Given the description of an element on the screen output the (x, y) to click on. 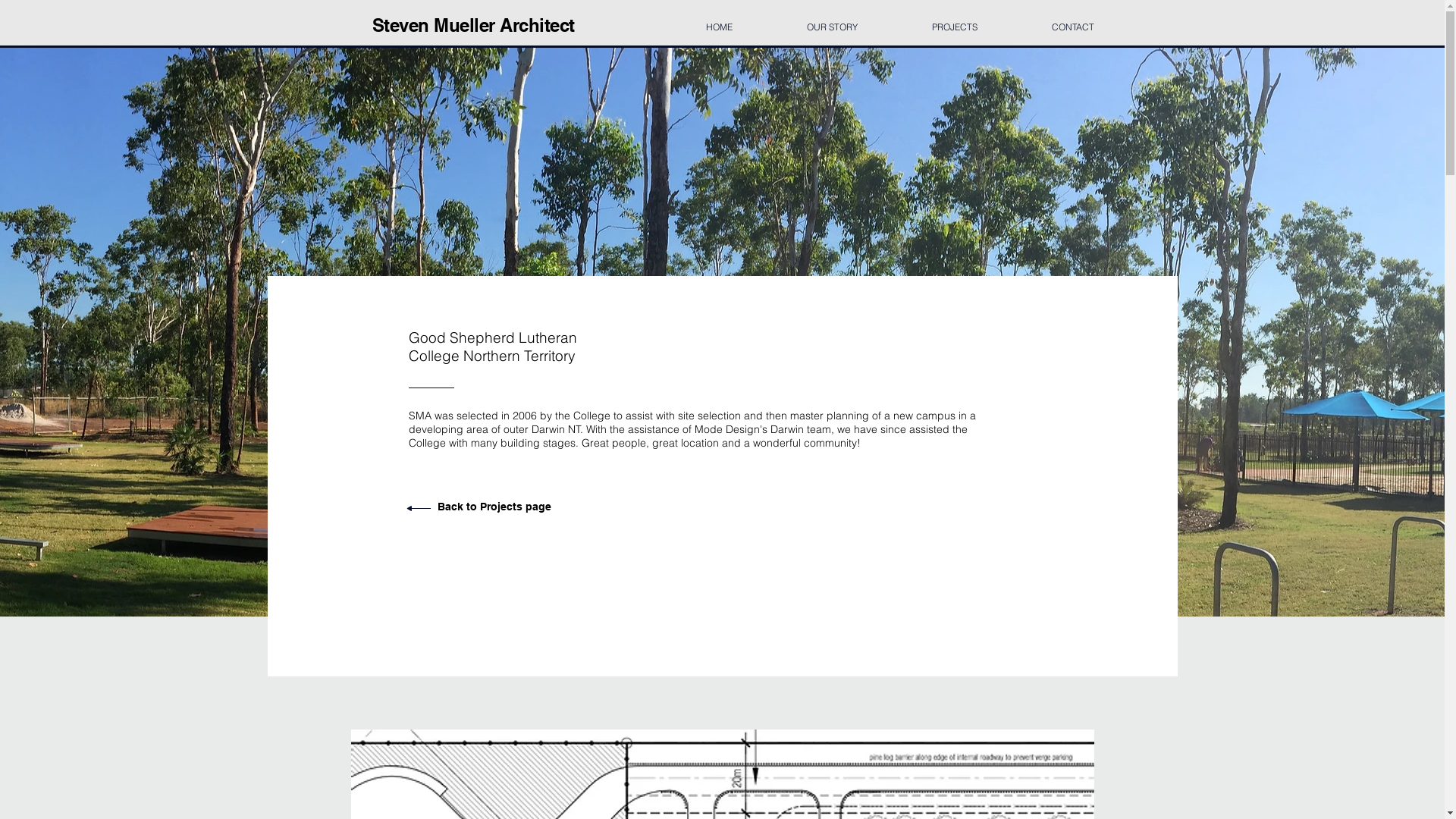
CONTACT Element type: text (1072, 20)
OUR STORY Element type: text (831, 20)
Steven Mueller Architect Element type: text (472, 24)
PROJECTS Element type: text (954, 20)
HOME Element type: text (718, 20)
Back to Projects page Element type: text (493, 506)
